Given the description of an element on the screen output the (x, y) to click on. 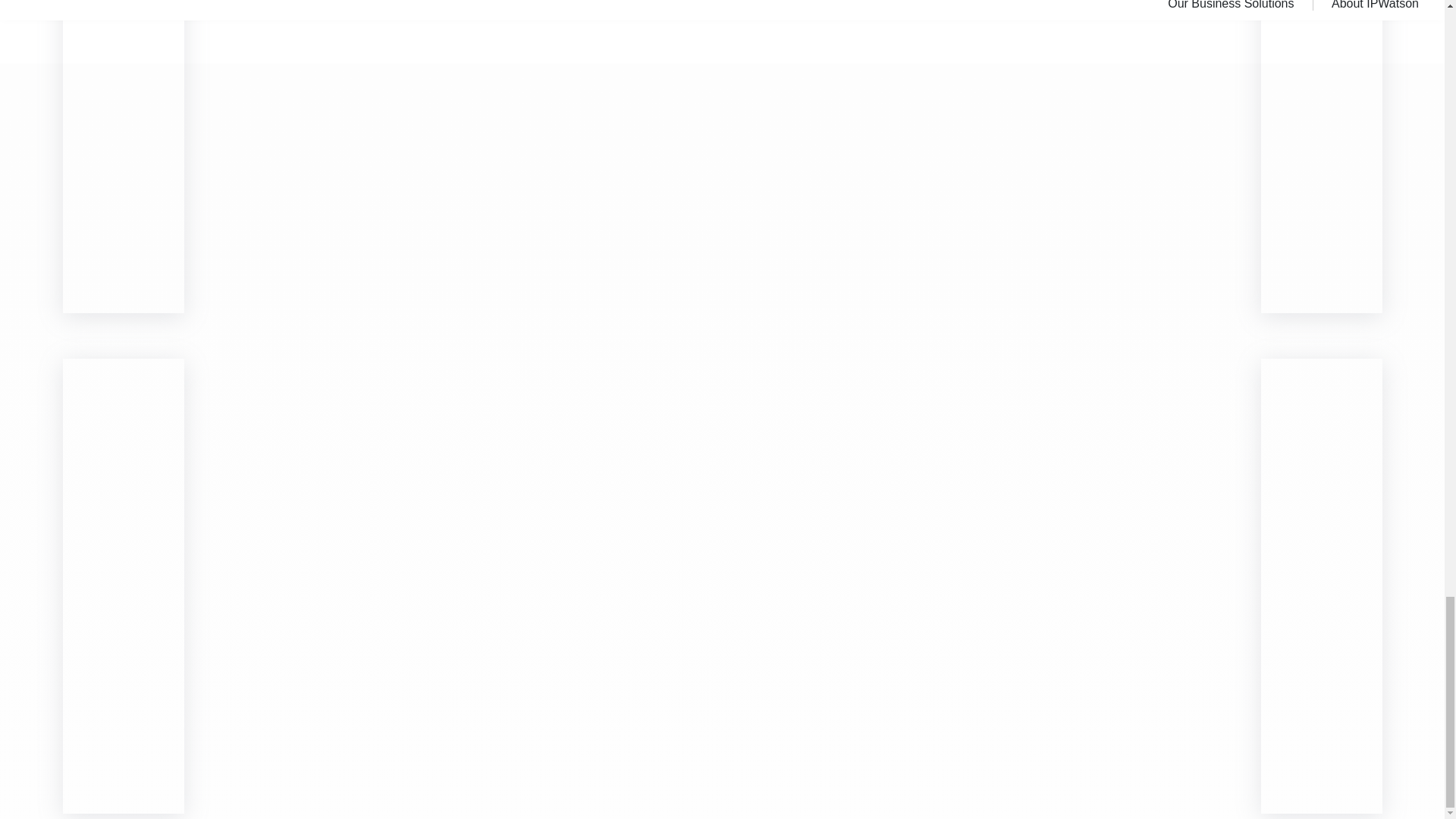
Our Business Solutions (1240, 5)
About IPWatson (1384, 5)
